Given the description of an element on the screen output the (x, y) to click on. 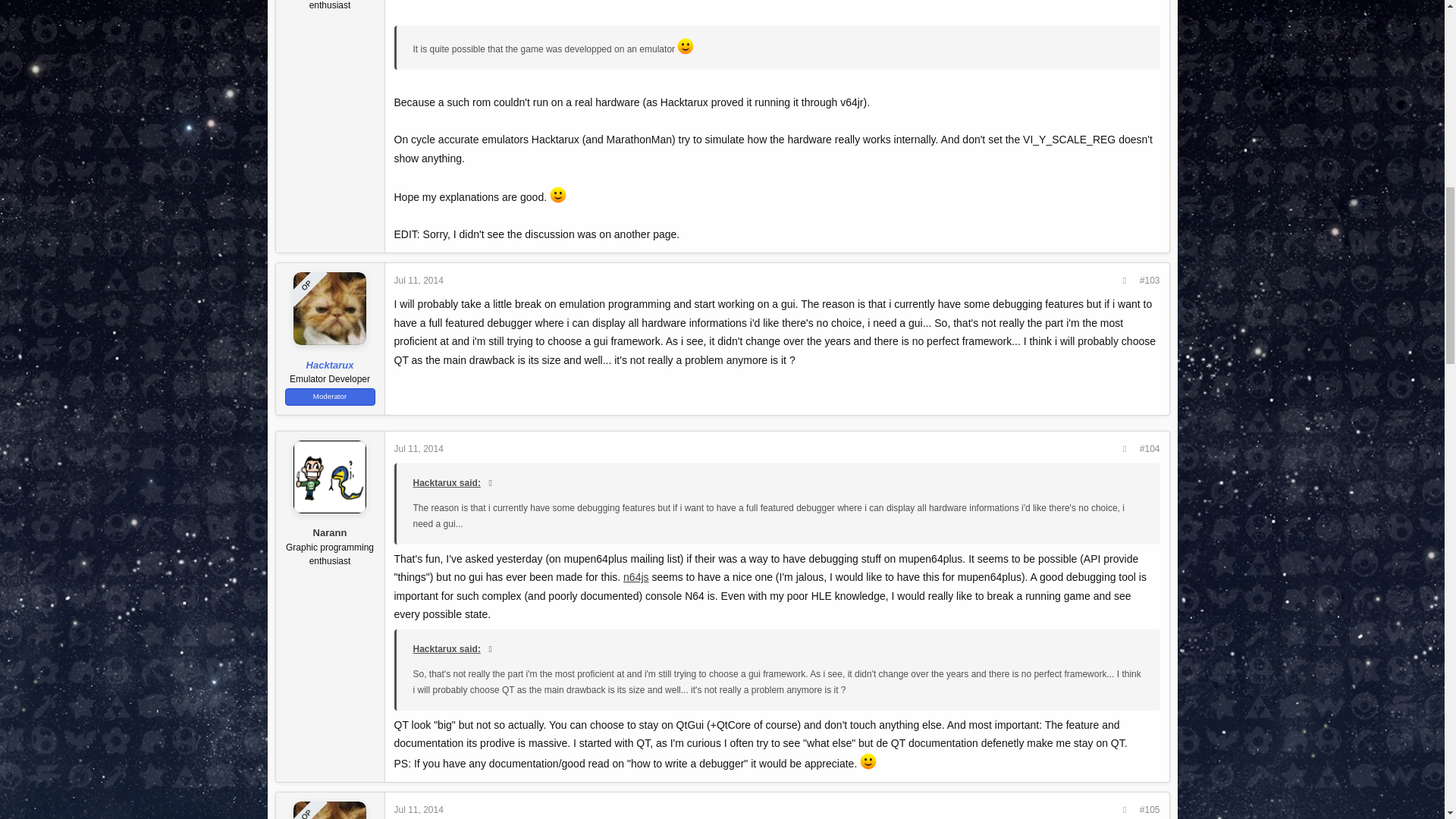
Jul 11, 2014 at 7:04 PM (419, 280)
